Given the description of an element on the screen output the (x, y) to click on. 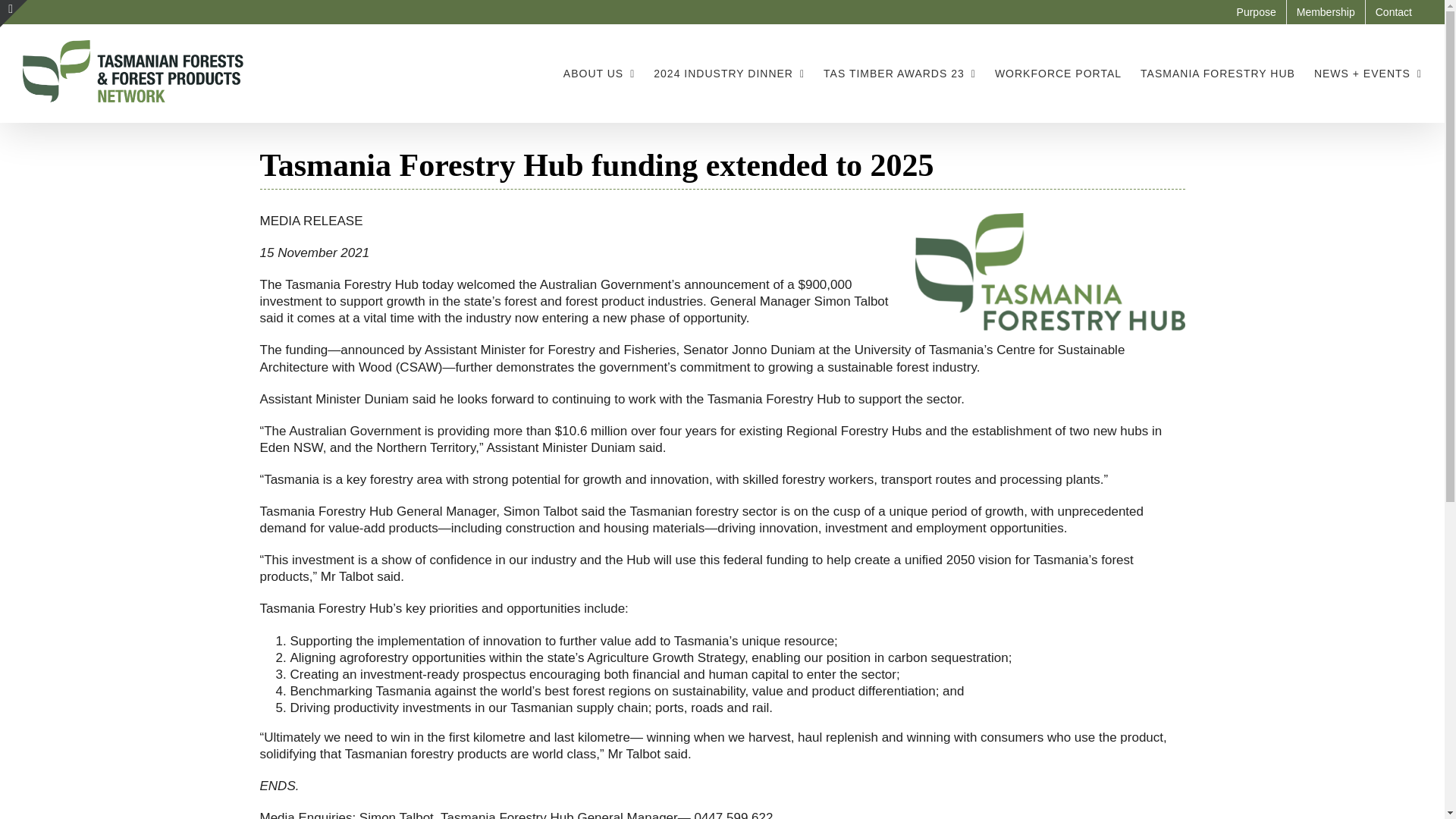
WORKFORCE PORTAL (1057, 73)
Contact (1393, 12)
TAS TIMBER AWARDS 23 (899, 73)
2024 INDUSTRY DINNER (729, 73)
TASMANIA FORESTRY HUB (1217, 73)
Purpose (1256, 12)
2024 INDUSTRY DINNER (729, 73)
Membership (1326, 12)
